Given the description of an element on the screen output the (x, y) to click on. 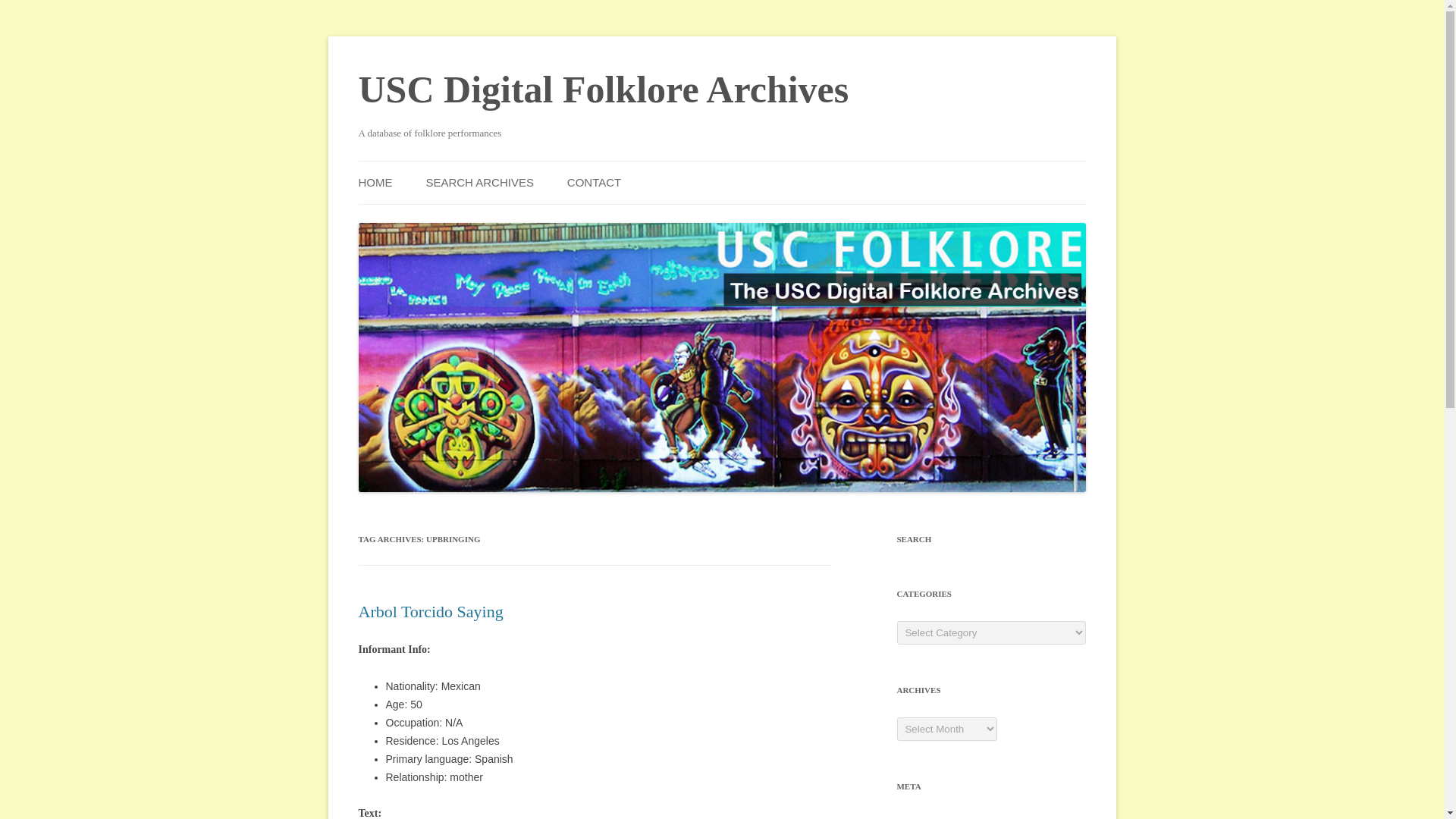
USC Digital Folklore Archives (603, 89)
HOME (374, 182)
USC Digital Folklore Archives (603, 89)
Arbol Torcido Saying (430, 610)
CONTACT (594, 182)
SEARCH ARCHIVES (479, 182)
Log in (909, 817)
